Given the description of an element on the screen output the (x, y) to click on. 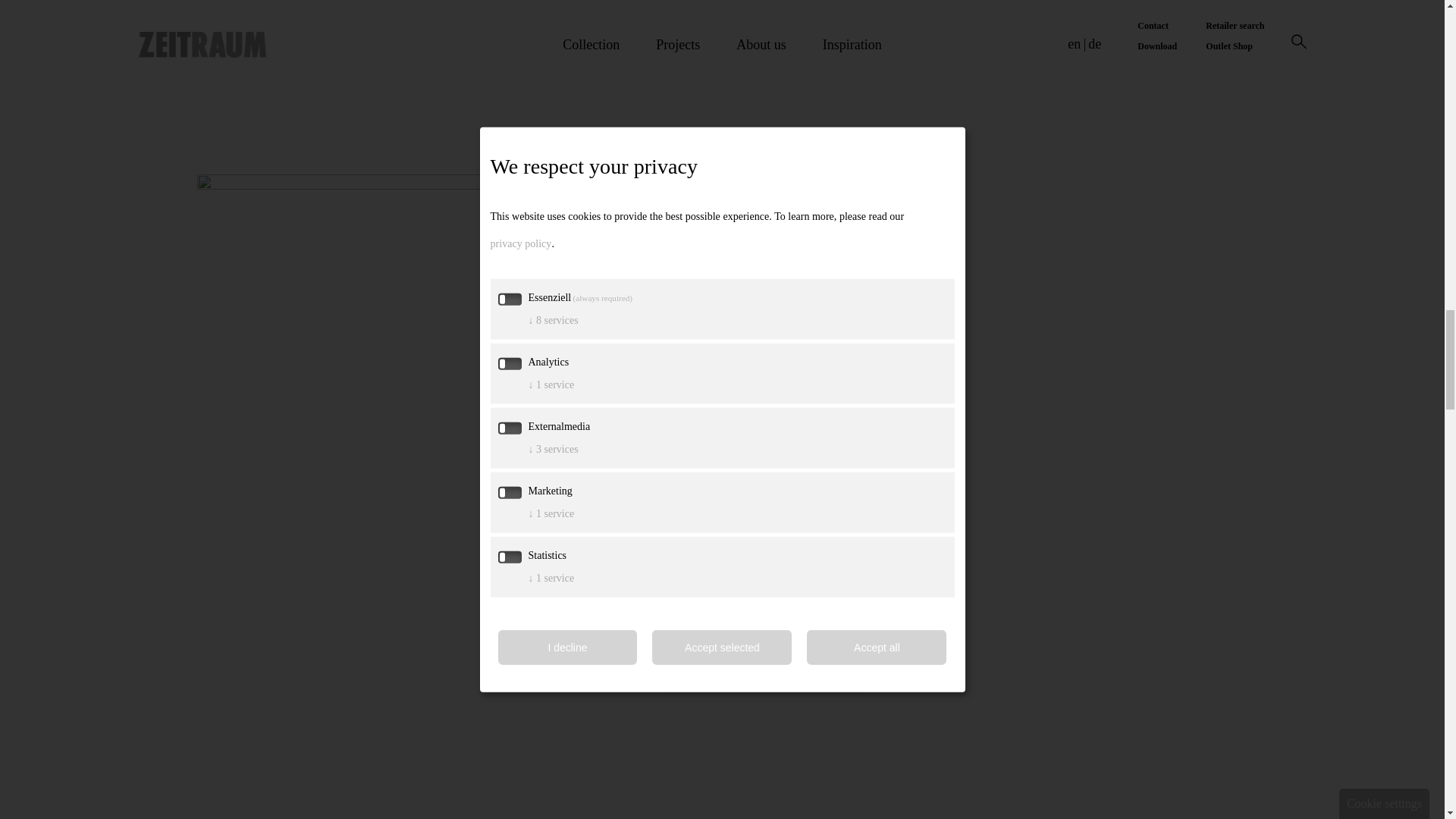
red-church-olomouc-photo-by-kubicek-studio-zeitraum-05 (898, 794)
red-church-olomouc-photo-by-kubicek-studio-zeitraum-02 (436, 20)
